Given the description of an element on the screen output the (x, y) to click on. 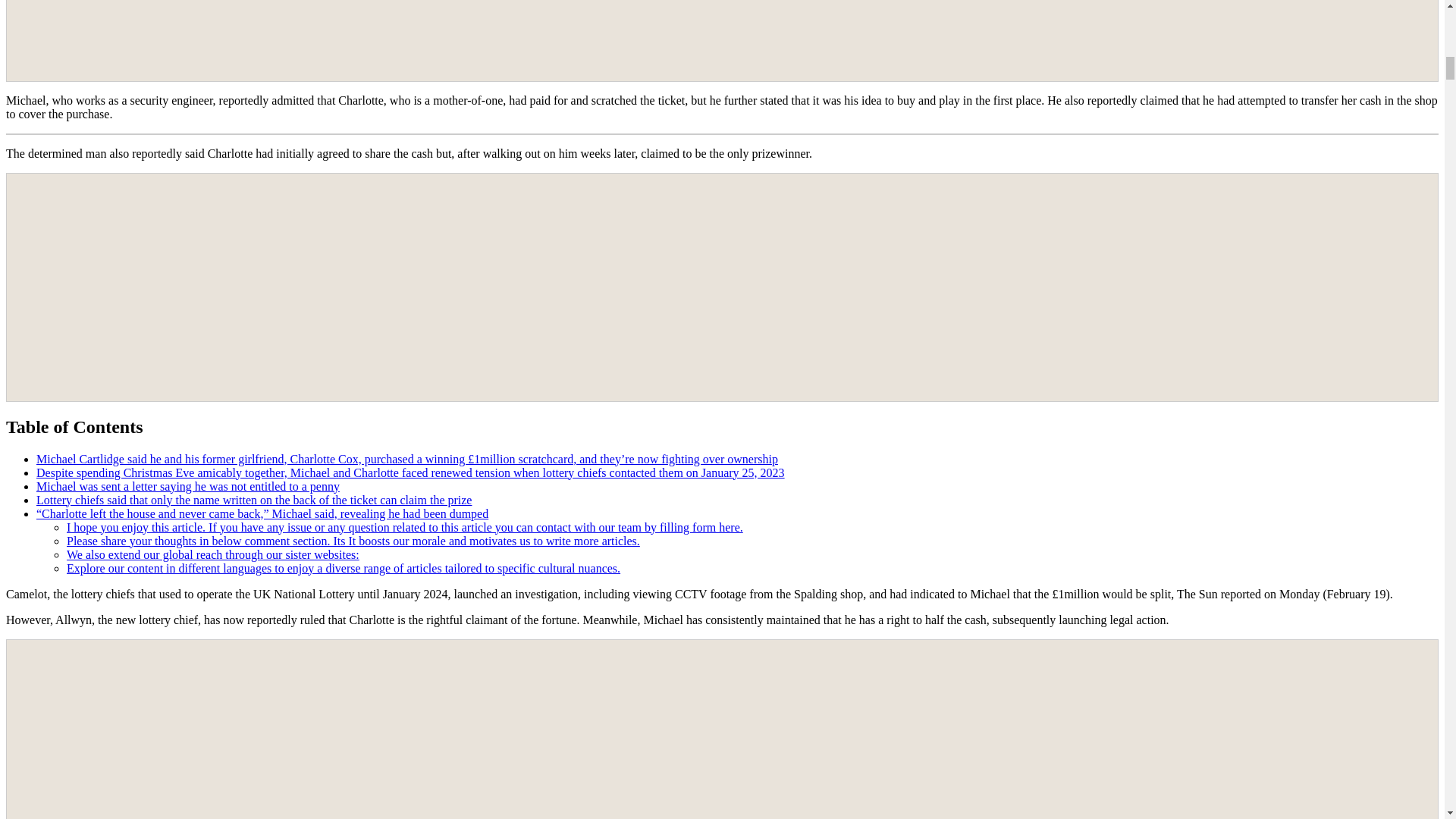
We also extend our global reach through our sister websites: (212, 554)
